Given the description of an element on the screen output the (x, y) to click on. 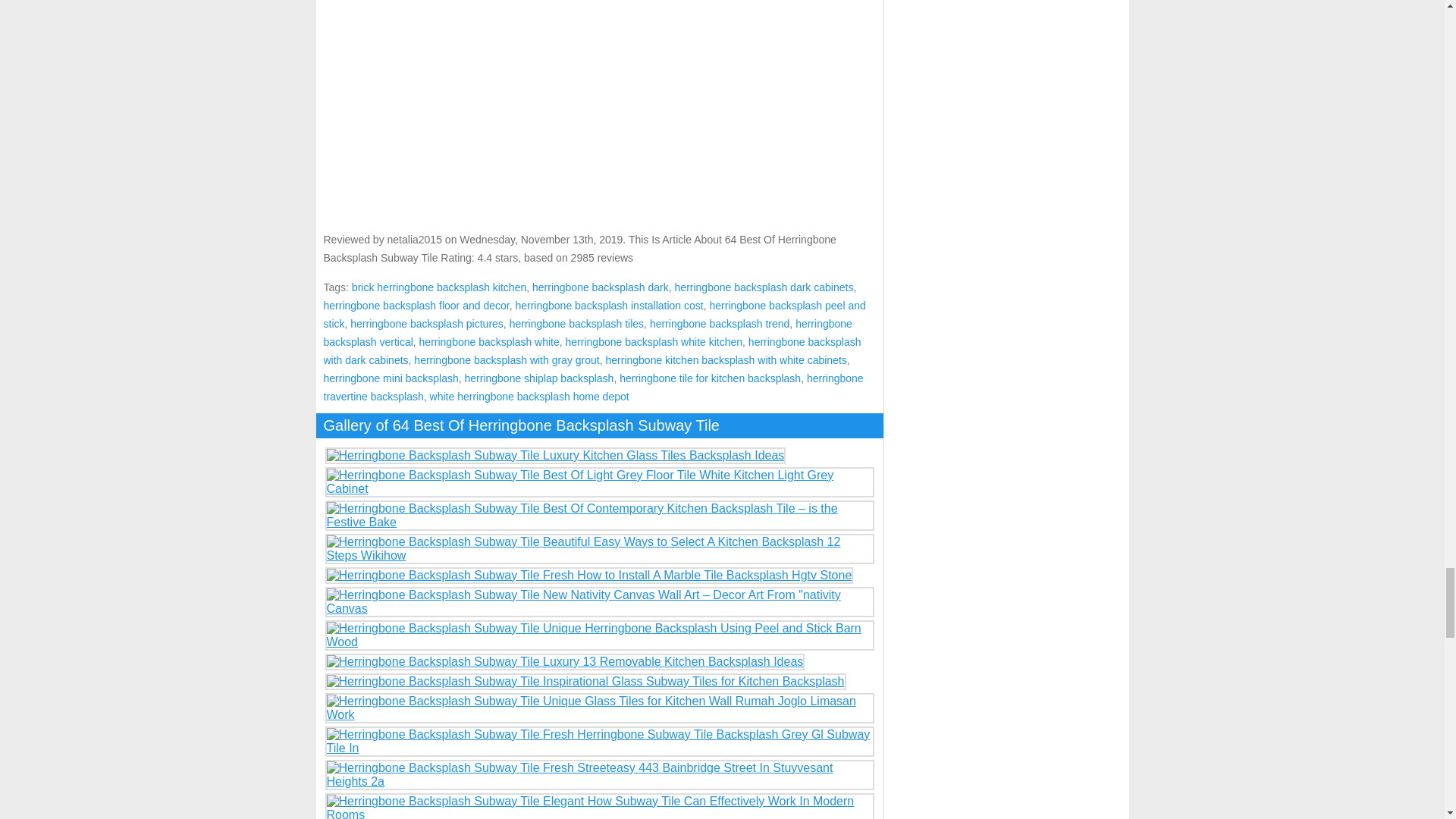
herringbone backsplash pictures (426, 323)
herringbone backsplash white kitchen (654, 341)
herringbone travertine backsplash (593, 387)
herringbone kitchen backsplash with white cabinets (725, 359)
herringbone mini backsplash (390, 378)
white herringbone backsplash home depot (528, 396)
herringbone shiplap backsplash (538, 378)
herringbone backsplash peel and stick (593, 314)
herringbone backsplash dark cabinets (764, 287)
herringbone backsplash with dark cabinets (591, 350)
